Given the description of an element on the screen output the (x, y) to click on. 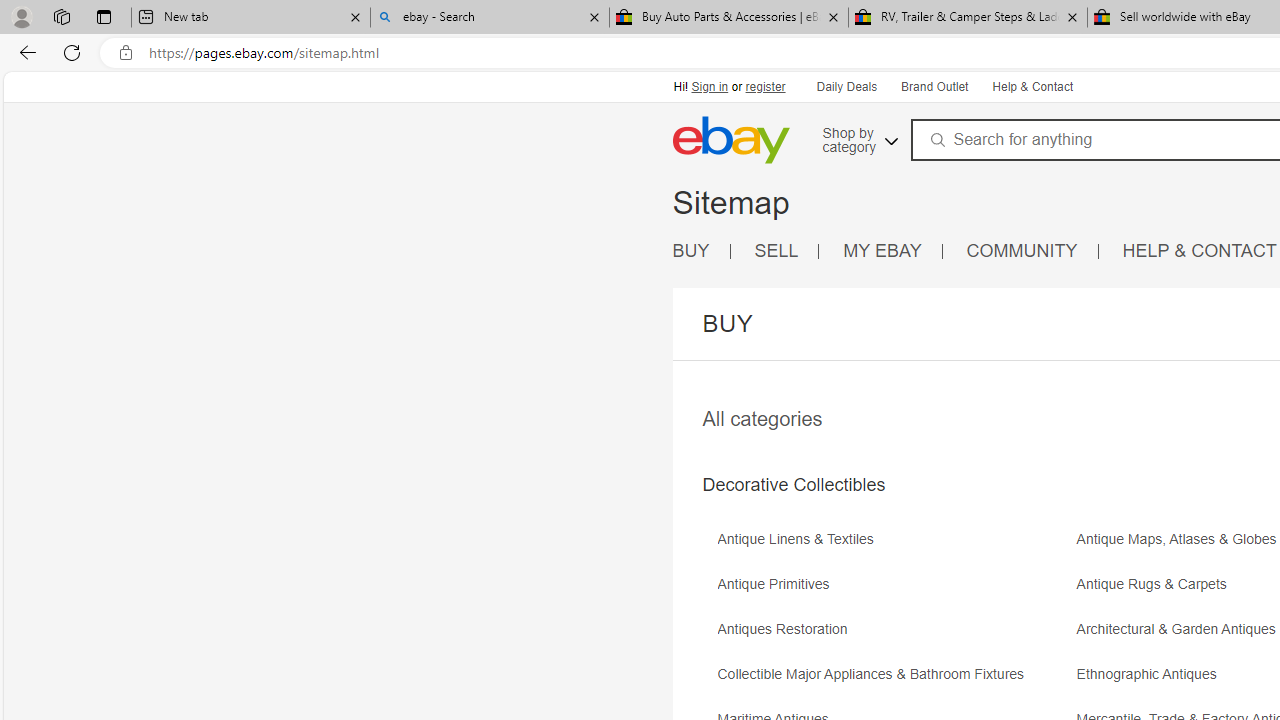
BUY (691, 250)
Help & Contact (1031, 86)
Antique Primitives (894, 591)
Antique Linens & Textiles (894, 546)
HELP & CONTACT (1199, 250)
Daily Deals (847, 88)
MY EBAY (882, 250)
Collectible Major Appliances & Bathroom Fixtures (875, 673)
SELL (786, 251)
Brand Outlet (933, 86)
